Given the description of an element on the screen output the (x, y) to click on. 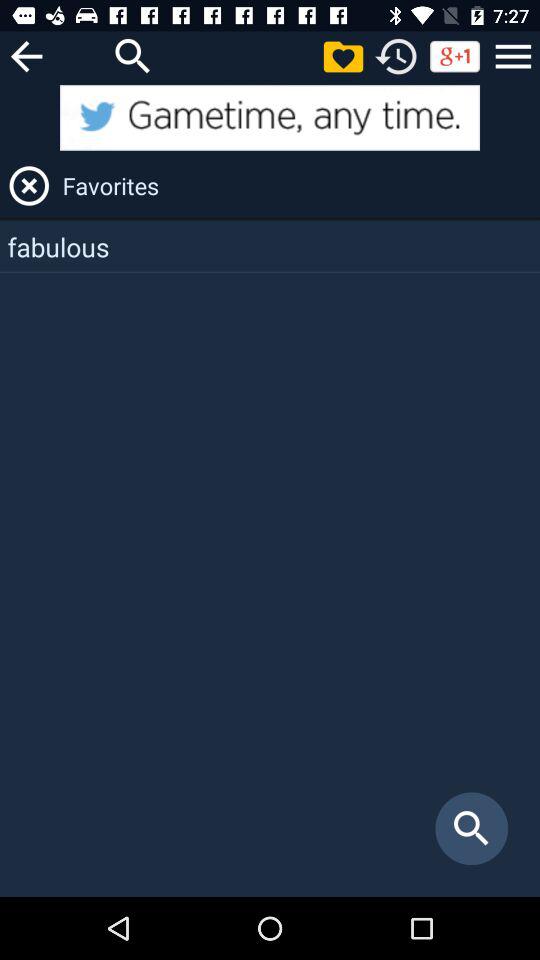
flip until the favorites (298, 185)
